Given the description of an element on the screen output the (x, y) to click on. 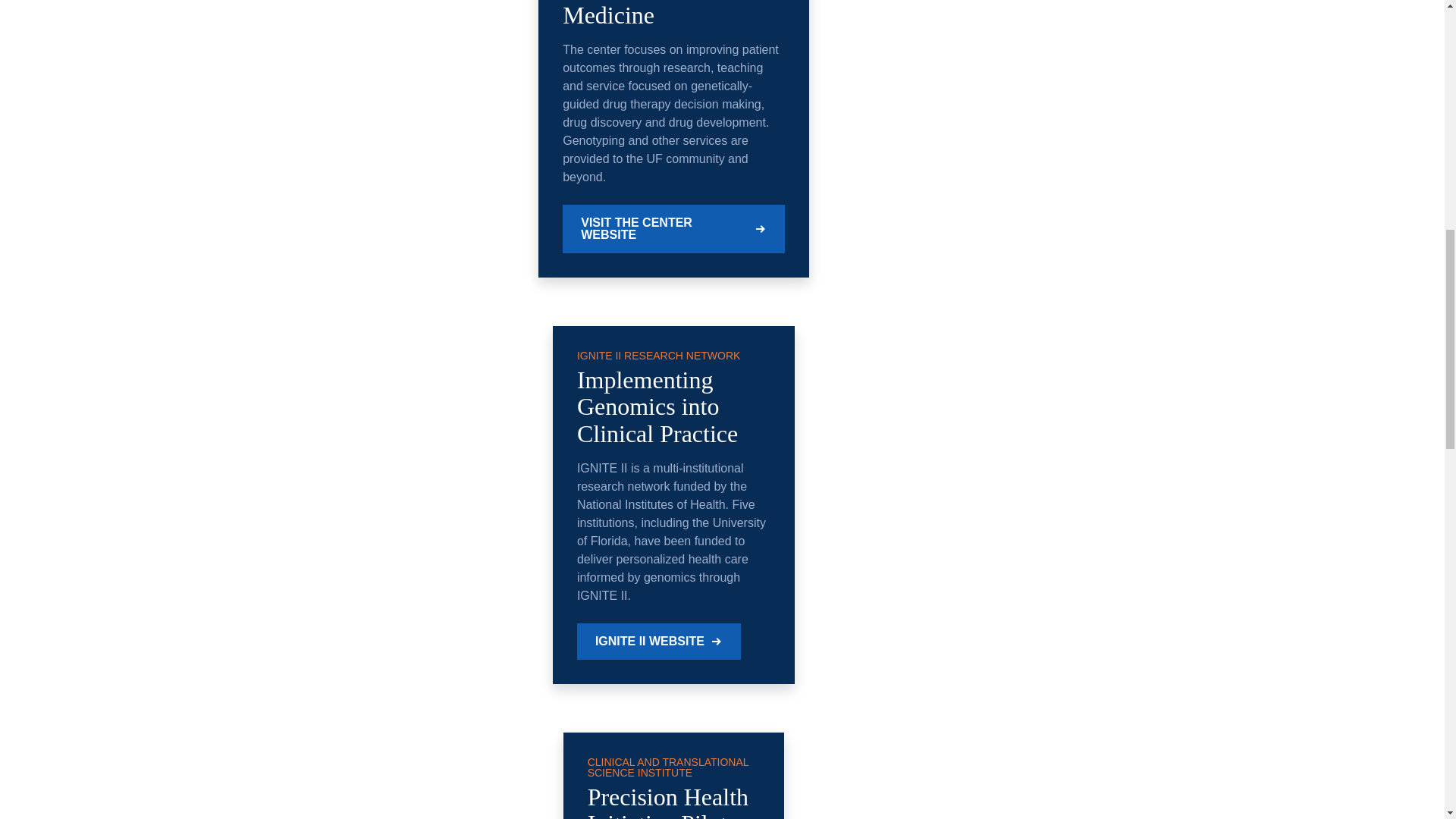
IGNITE II WEBSITE (658, 641)
VISIT THE CENTER WEBSITE (673, 228)
